Given the description of an element on the screen output the (x, y) to click on. 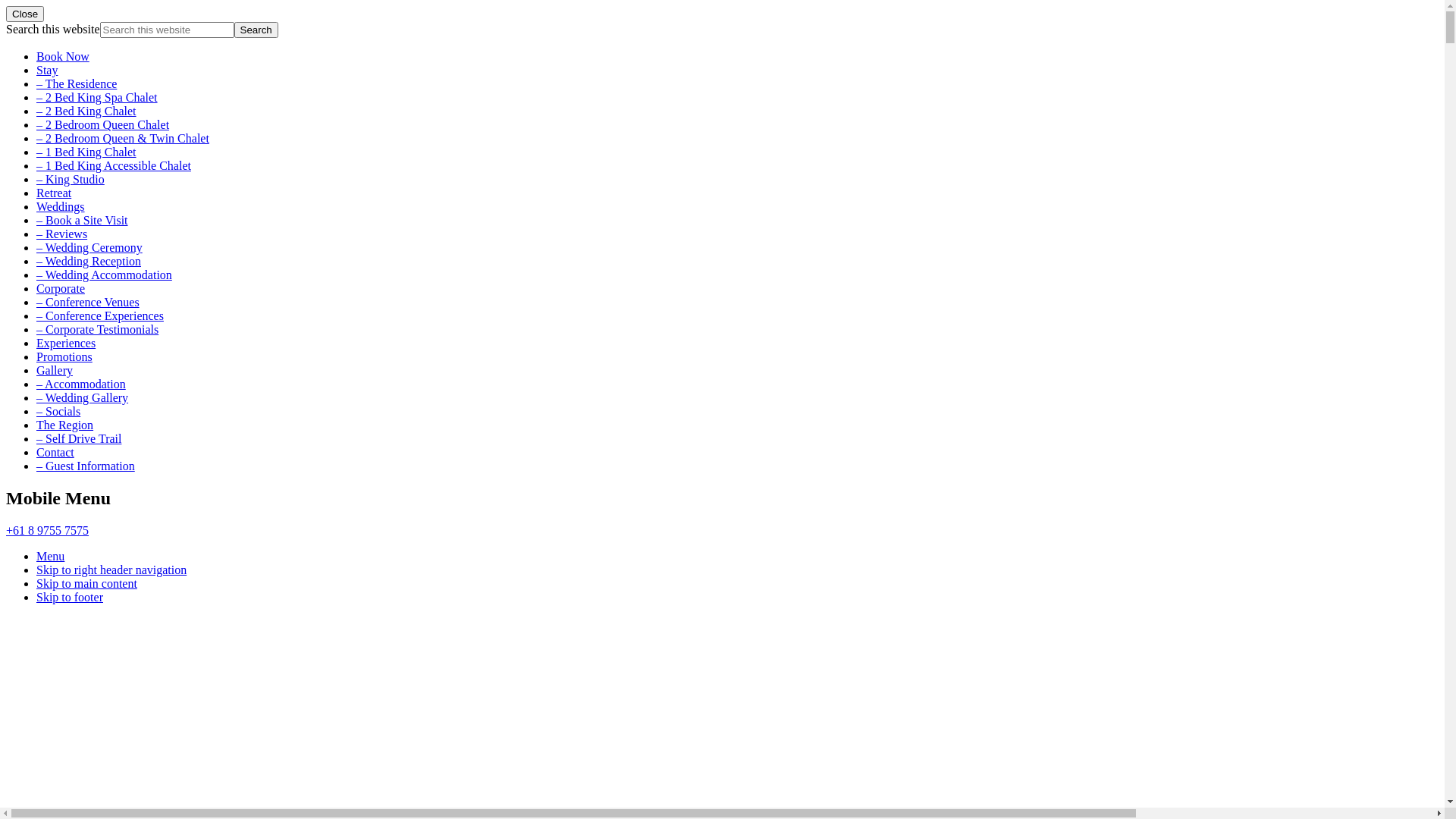
Experiences Element type: text (65, 342)
+61 8 9755 7575 Element type: text (47, 530)
The Region Element type: text (64, 424)
Gallery Element type: text (54, 370)
Close Element type: text (24, 13)
Corporate Element type: text (60, 288)
Retreat Element type: text (53, 192)
Skip to right header navigation Element type: text (111, 569)
Search Element type: text (256, 29)
Stay Element type: text (46, 69)
Weddings Element type: text (60, 206)
Skip to main content Element type: text (86, 583)
Skip to footer Element type: text (69, 596)
Menu Element type: text (50, 555)
Contact Element type: text (55, 451)
Promotions Element type: text (64, 356)
Book Now Element type: text (62, 56)
